Given the description of an element on the screen output the (x, y) to click on. 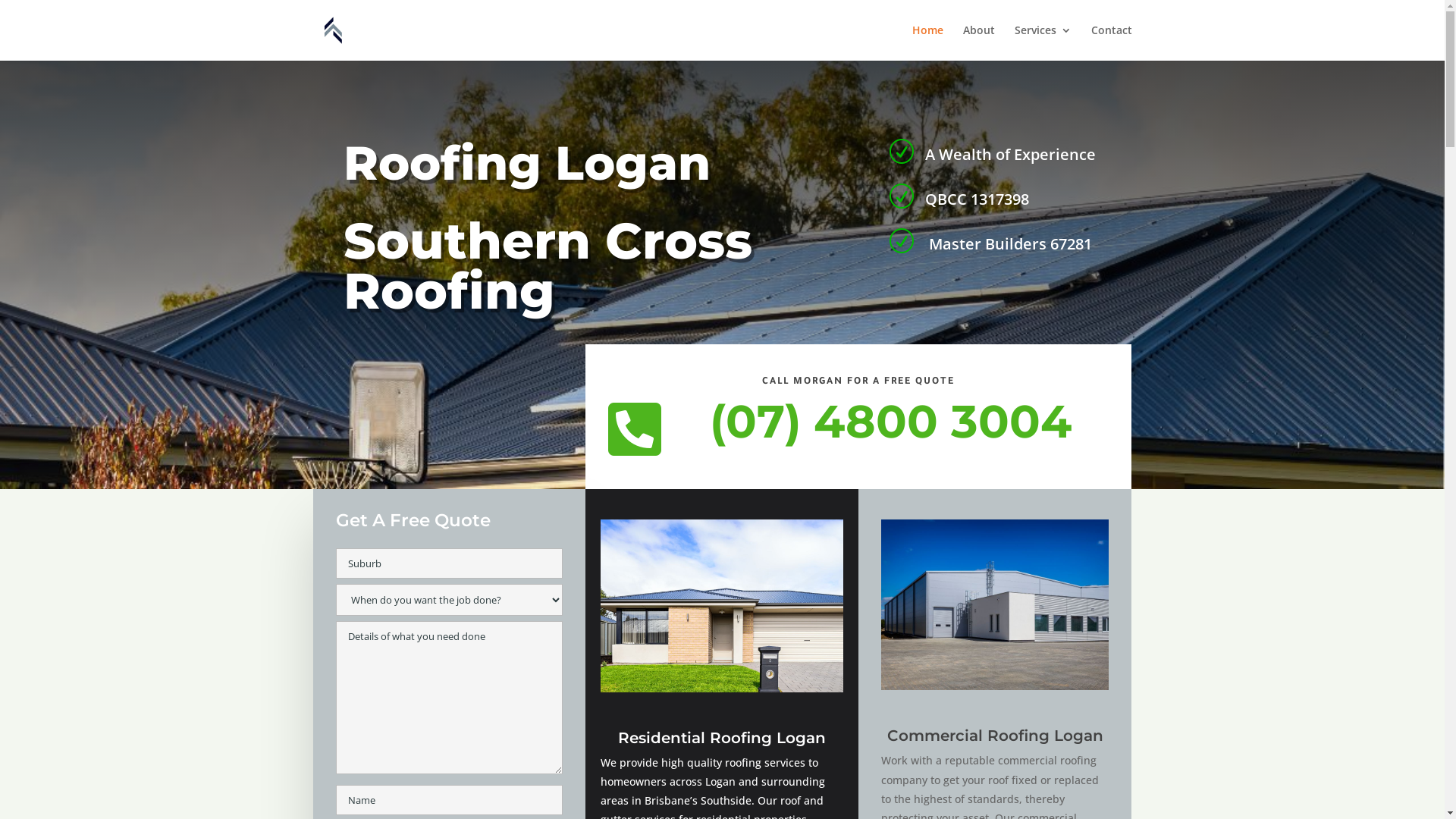
Commercial Roofing Logan Element type: text (995, 735)
Services Element type: text (1042, 42)
Home Element type: text (926, 42)
Contact Element type: text (1110, 42)
(07) 4800 3004 Element type: text (890, 420)
About Element type: text (978, 42)
